Given the description of an element on the screen output the (x, y) to click on. 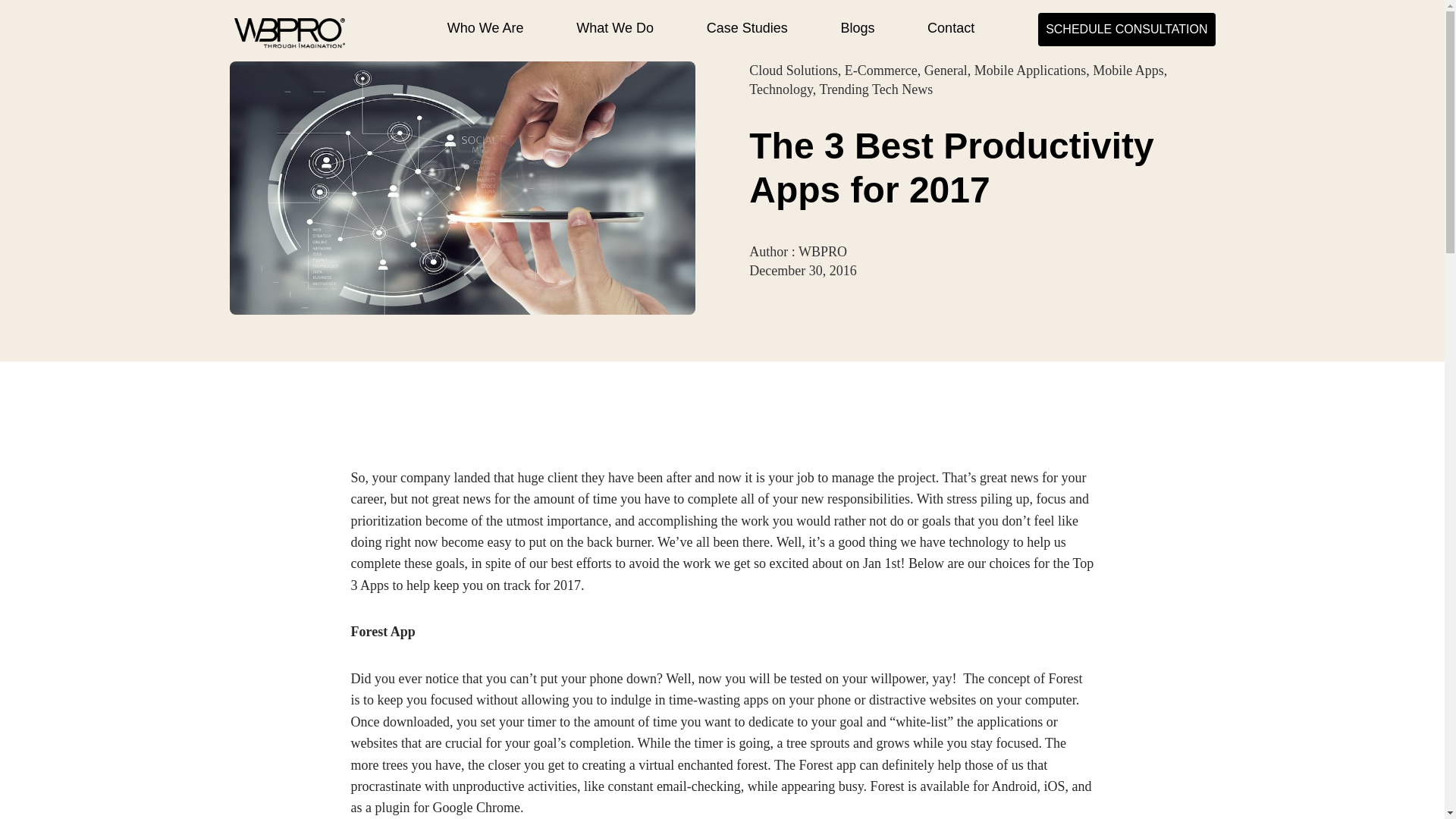
Who We Are (485, 27)
Technology (780, 89)
What We Do (614, 27)
Mobile Applications (1030, 70)
Trending Tech News (875, 89)
Contact (950, 27)
SCHEDULE CONSULTATION (1126, 27)
E-Commerce (880, 70)
General (946, 70)
Blogs (857, 27)
